Given the description of an element on the screen output the (x, y) to click on. 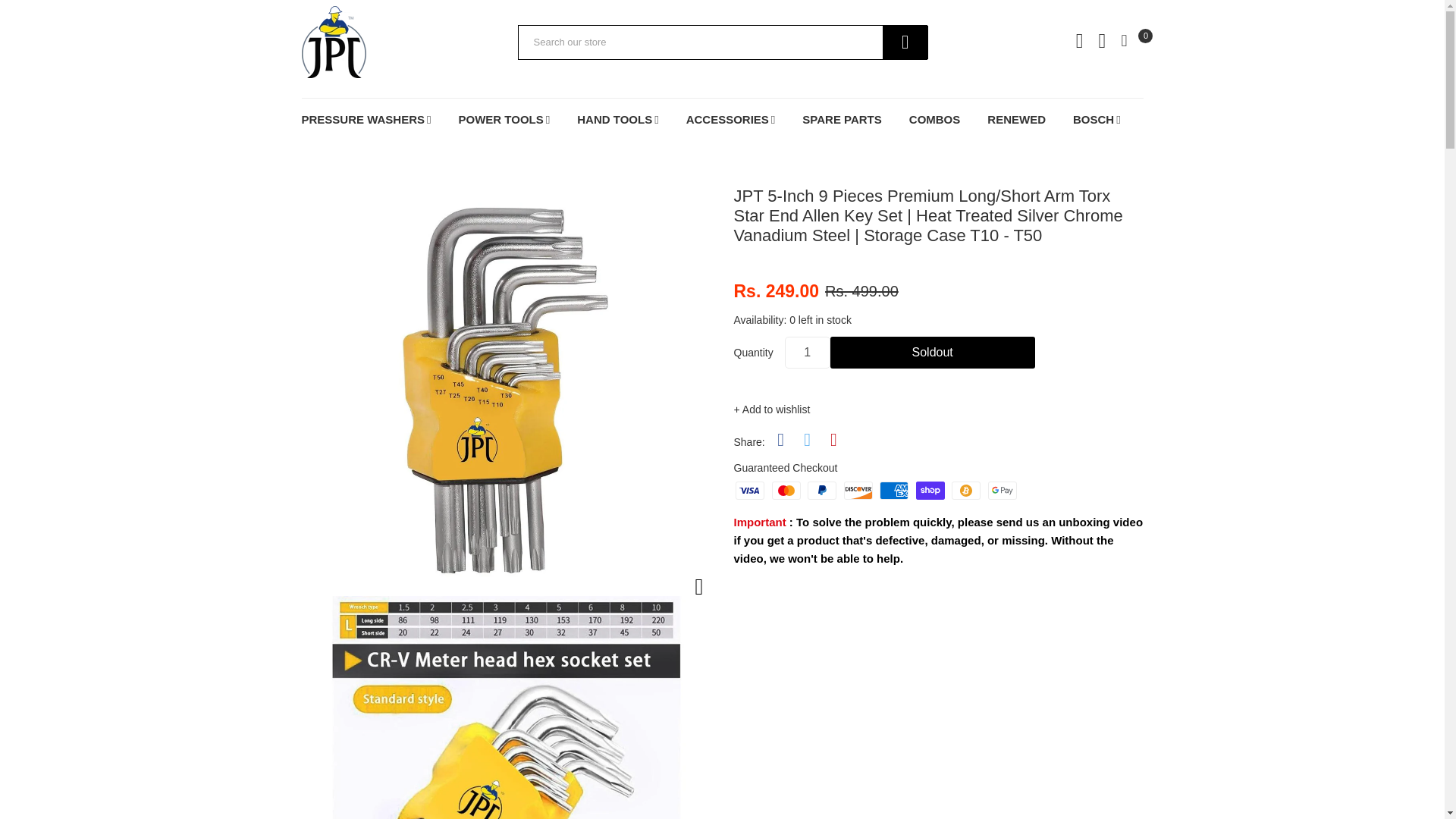
Follow us on Facebook (780, 439)
Follow us on Twitter (806, 439)
Follow us on Pinterest (833, 439)
1 (806, 352)
